Given the description of an element on the screen output the (x, y) to click on. 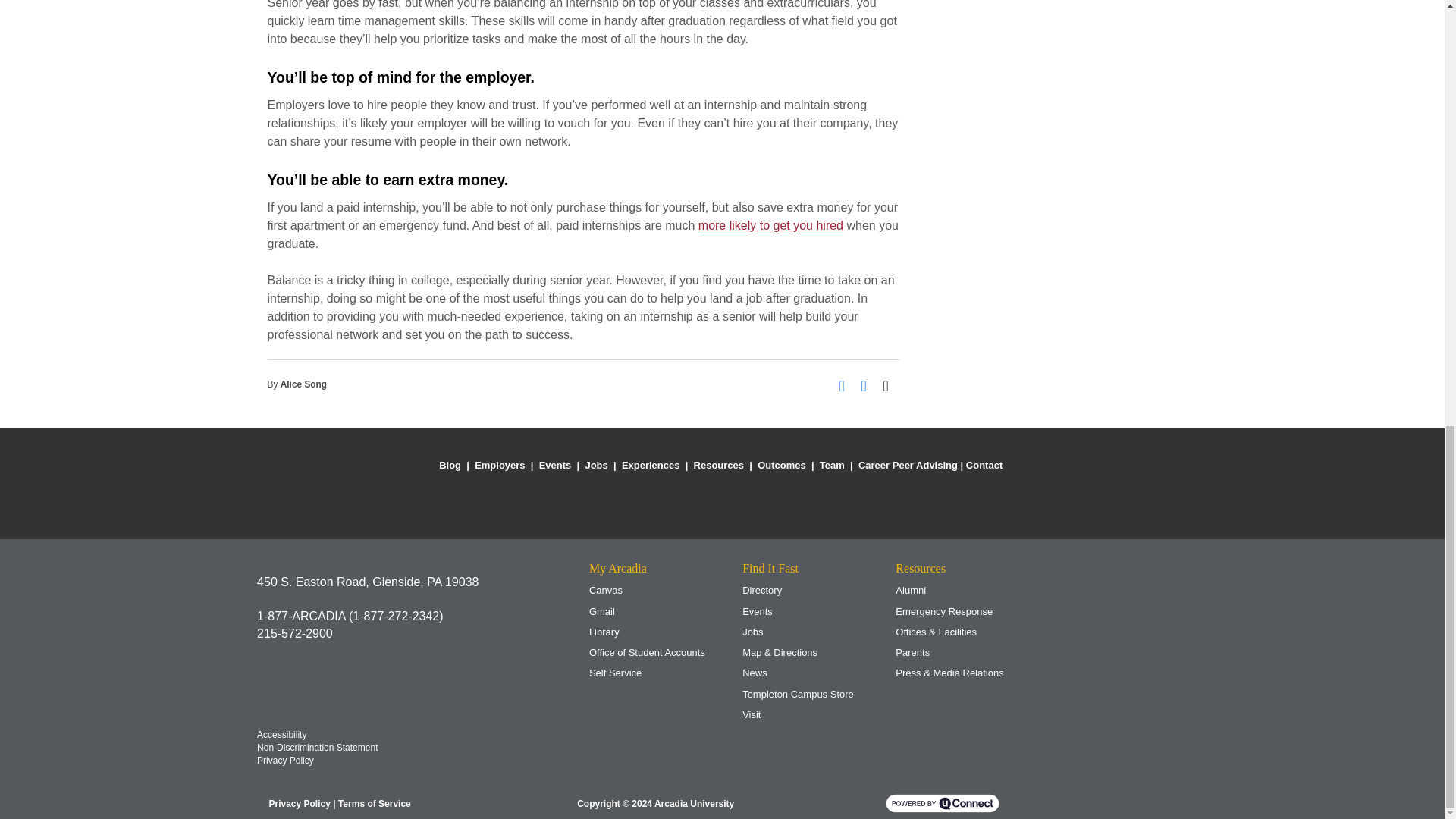
Click to share on Twitter (889, 384)
Click to share on Facebook (846, 384)
Click to share on LinkedIn (868, 384)
